Given the description of an element on the screen output the (x, y) to click on. 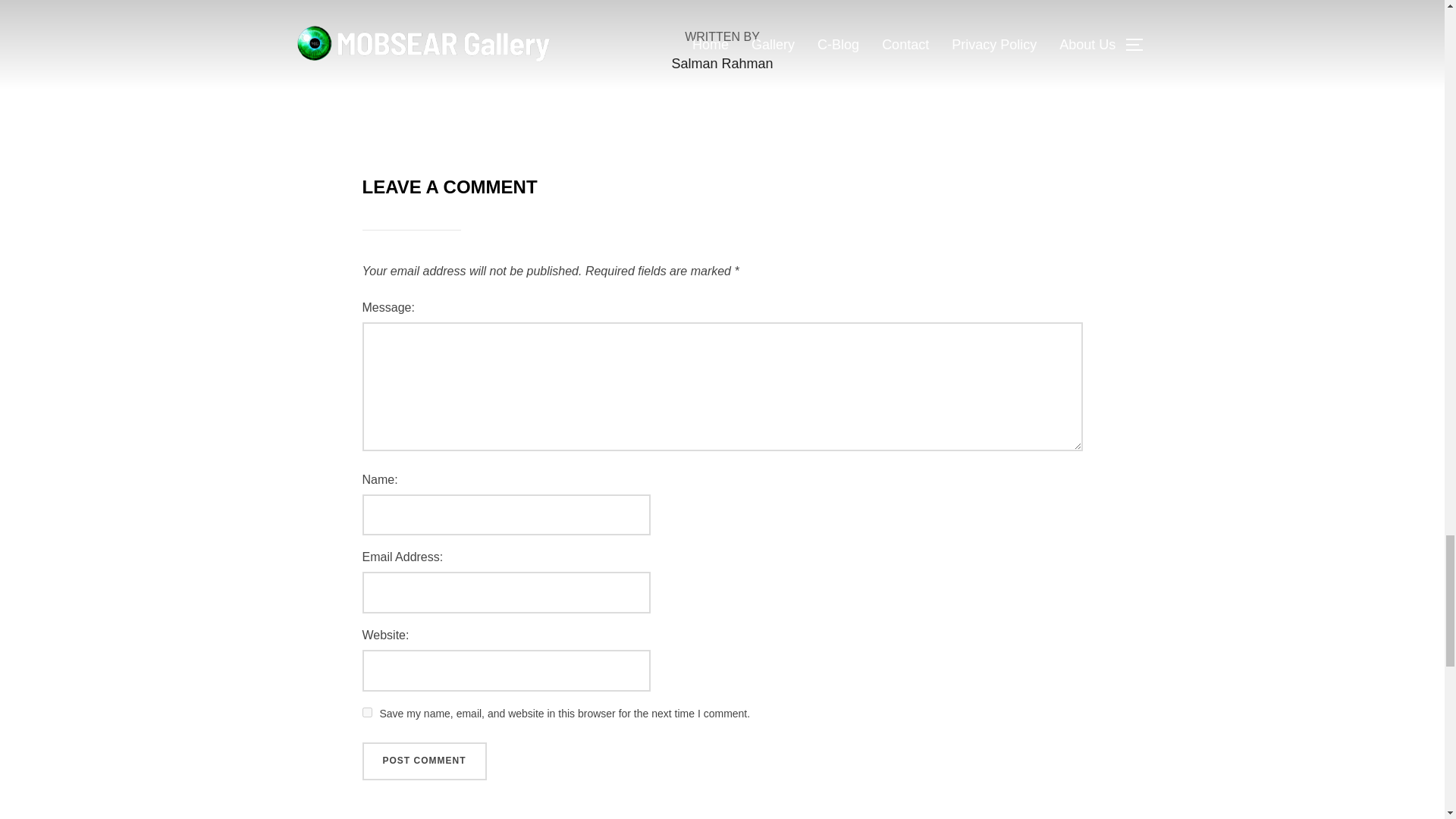
Posts by Salman Rahman (722, 63)
Post Comment (424, 761)
Post Comment (424, 761)
Salman Rahman (722, 63)
yes (367, 712)
